Given the description of an element on the screen output the (x, y) to click on. 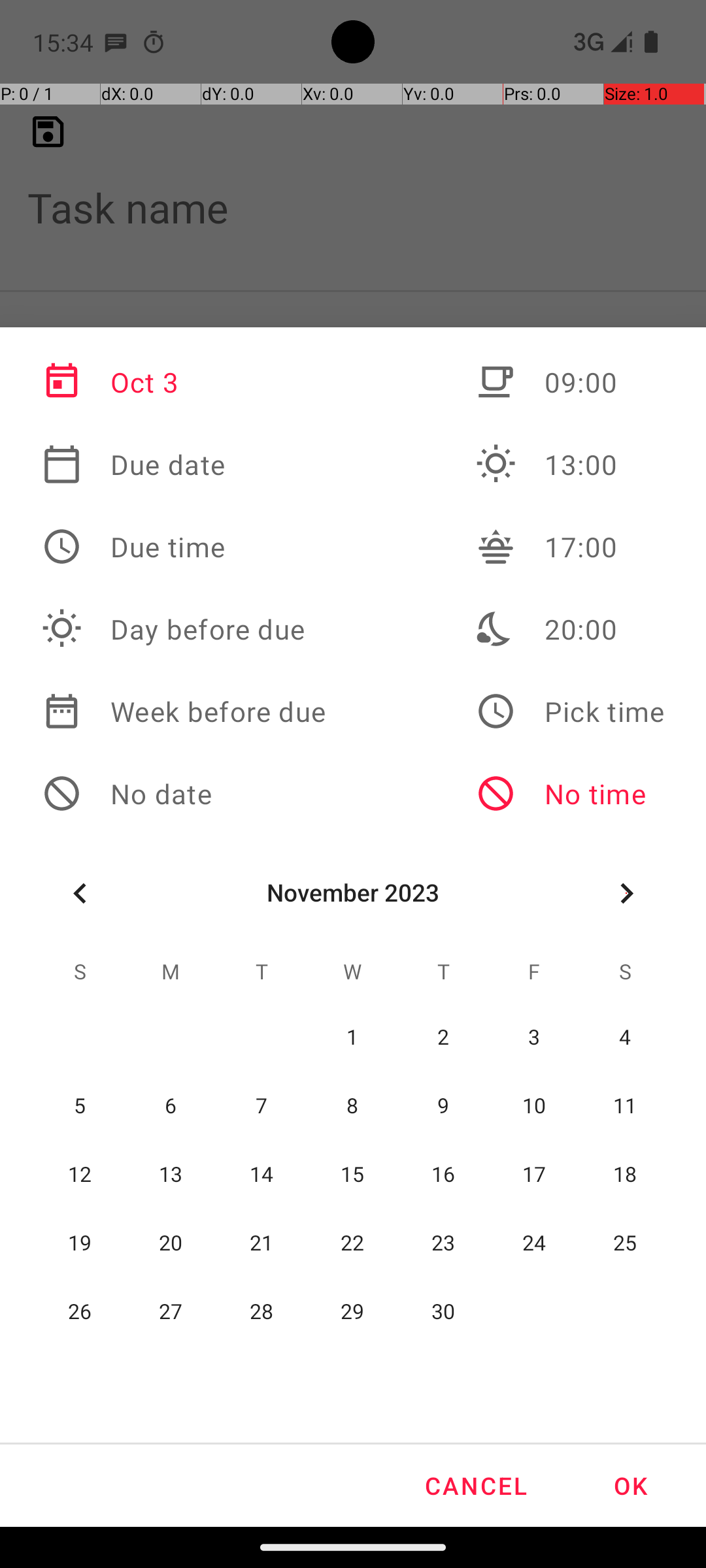
Oct 3 Element type: android.widget.CompoundButton (183, 382)
